Given the description of an element on the screen output the (x, y) to click on. 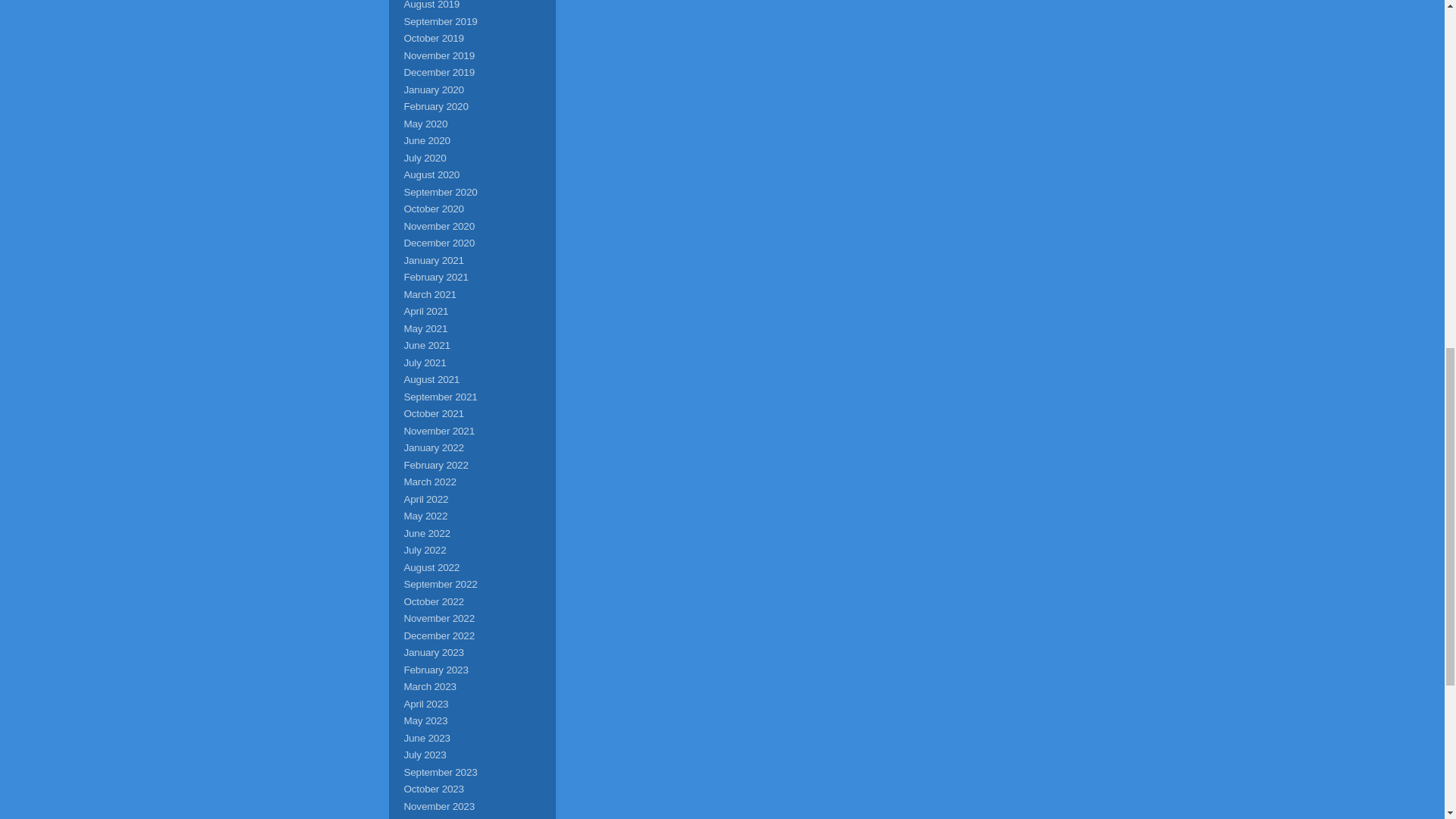
October 2019 (433, 38)
September 2019 (440, 20)
August 2019 (431, 4)
